Given the description of an element on the screen output the (x, y) to click on. 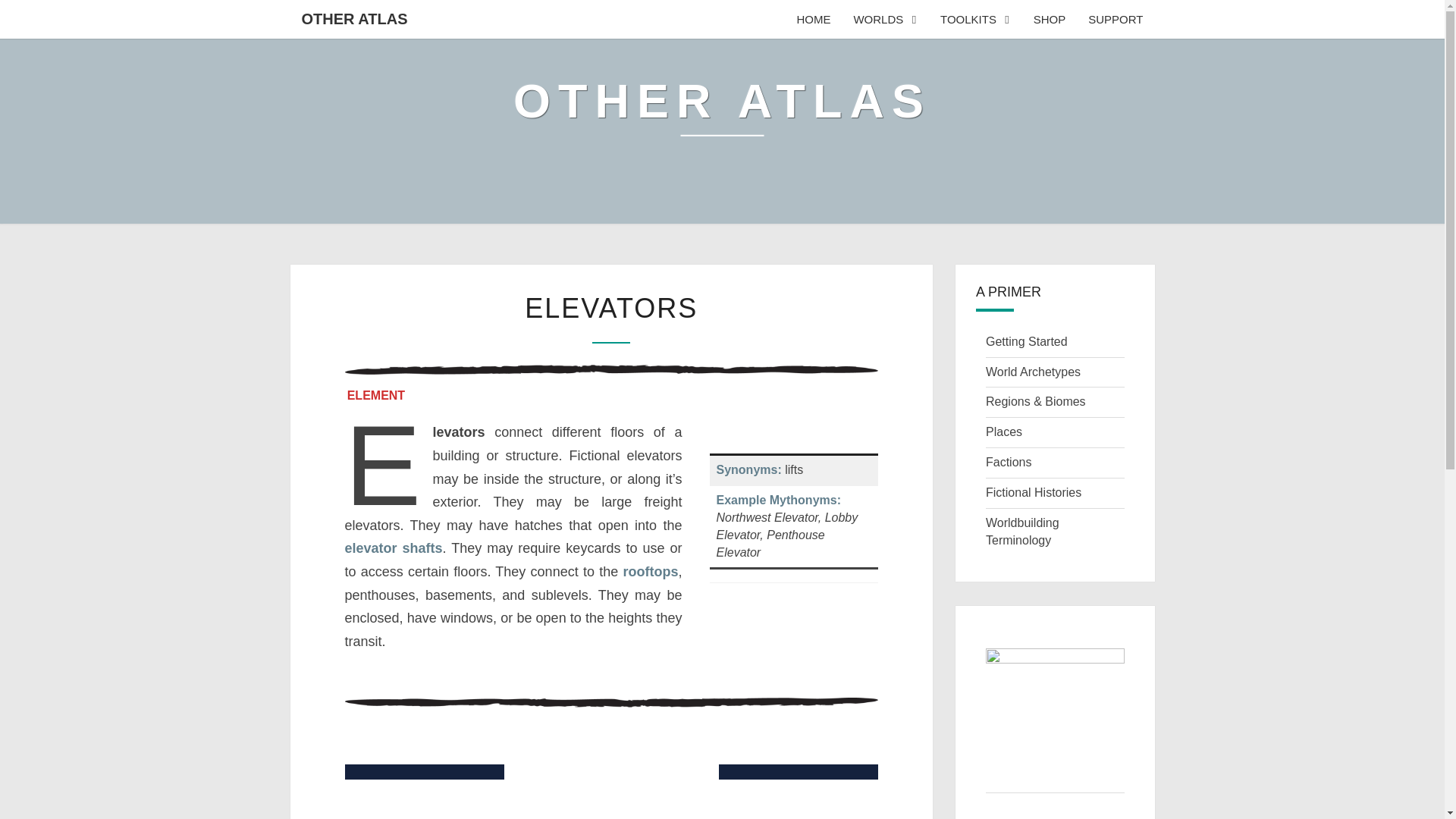
ELEMENT (375, 395)
HOME (812, 19)
Getting Started (1026, 341)
elevator shafts (392, 548)
Fictional Histories (1033, 492)
Places (1003, 431)
World Archetypes (1032, 371)
OTHER ATLAS (354, 18)
TOOLKITS (975, 19)
WORLDS (884, 19)
